Given the description of an element on the screen output the (x, y) to click on. 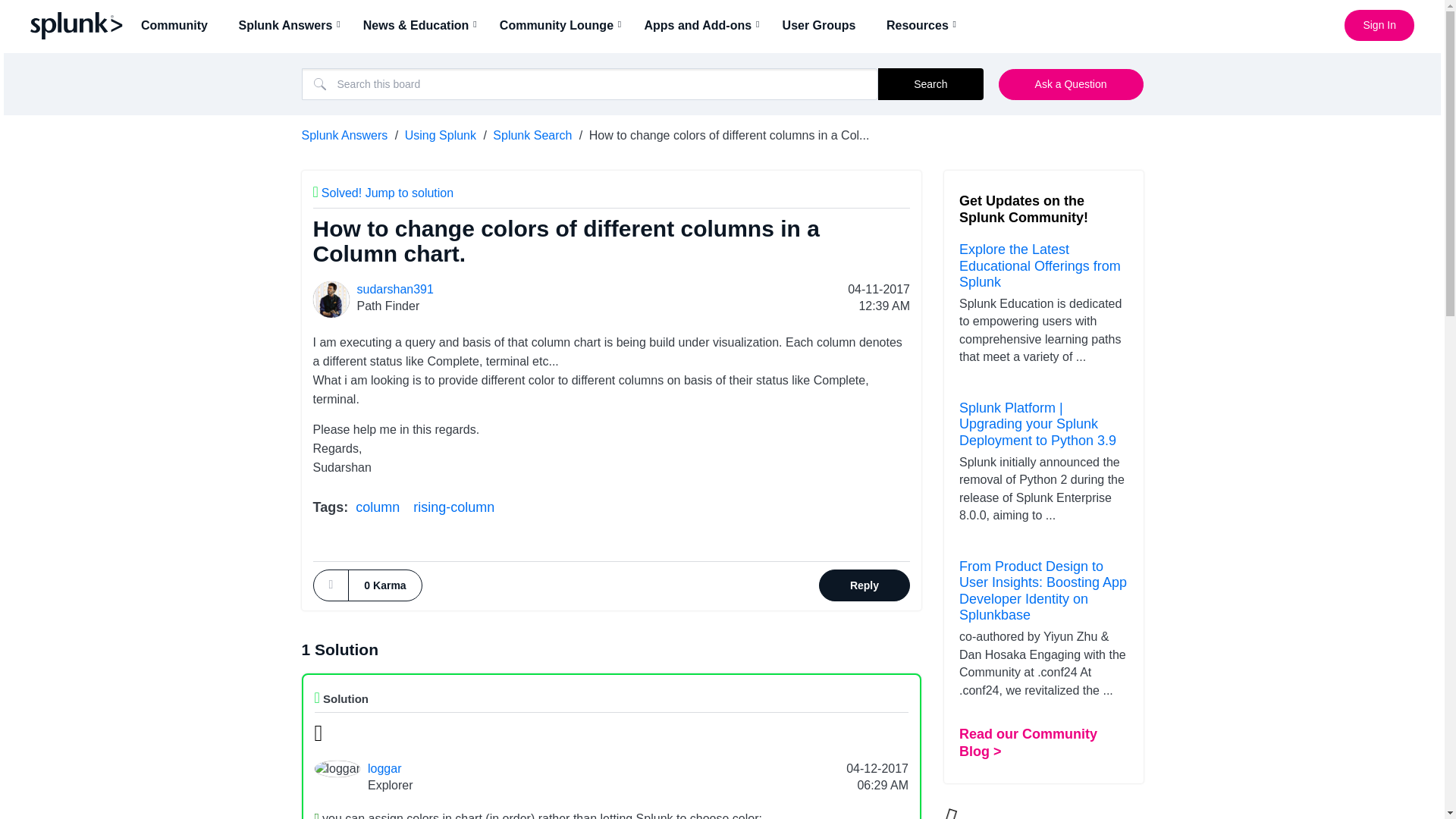
Search (590, 83)
Community (178, 25)
Splunk Answers (289, 25)
Search (929, 83)
Search (929, 83)
